Given the description of an element on the screen output the (x, y) to click on. 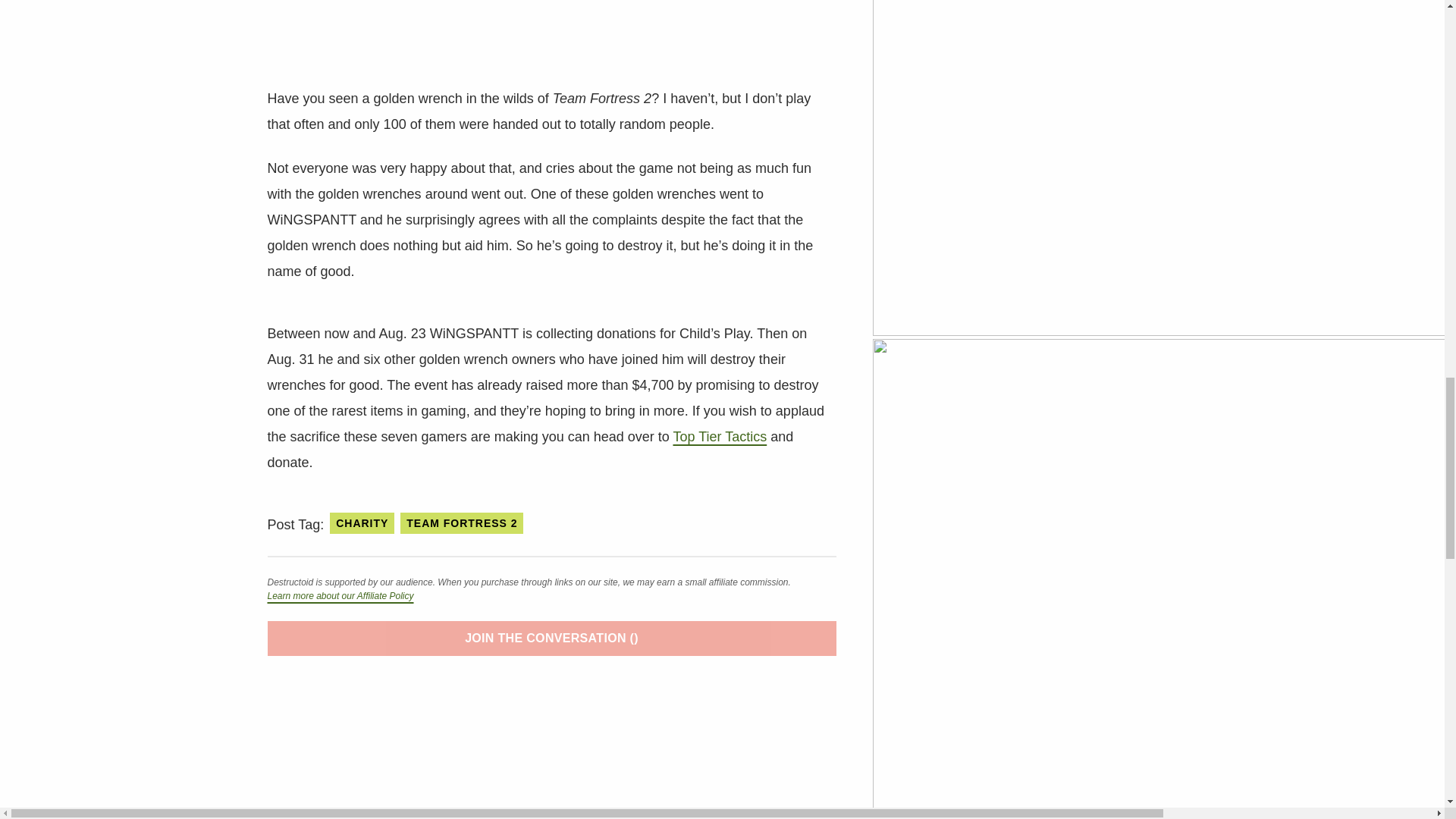
CHARITY (362, 522)
Top Tier Tactics (719, 436)
